Given the description of an element on the screen output the (x, y) to click on. 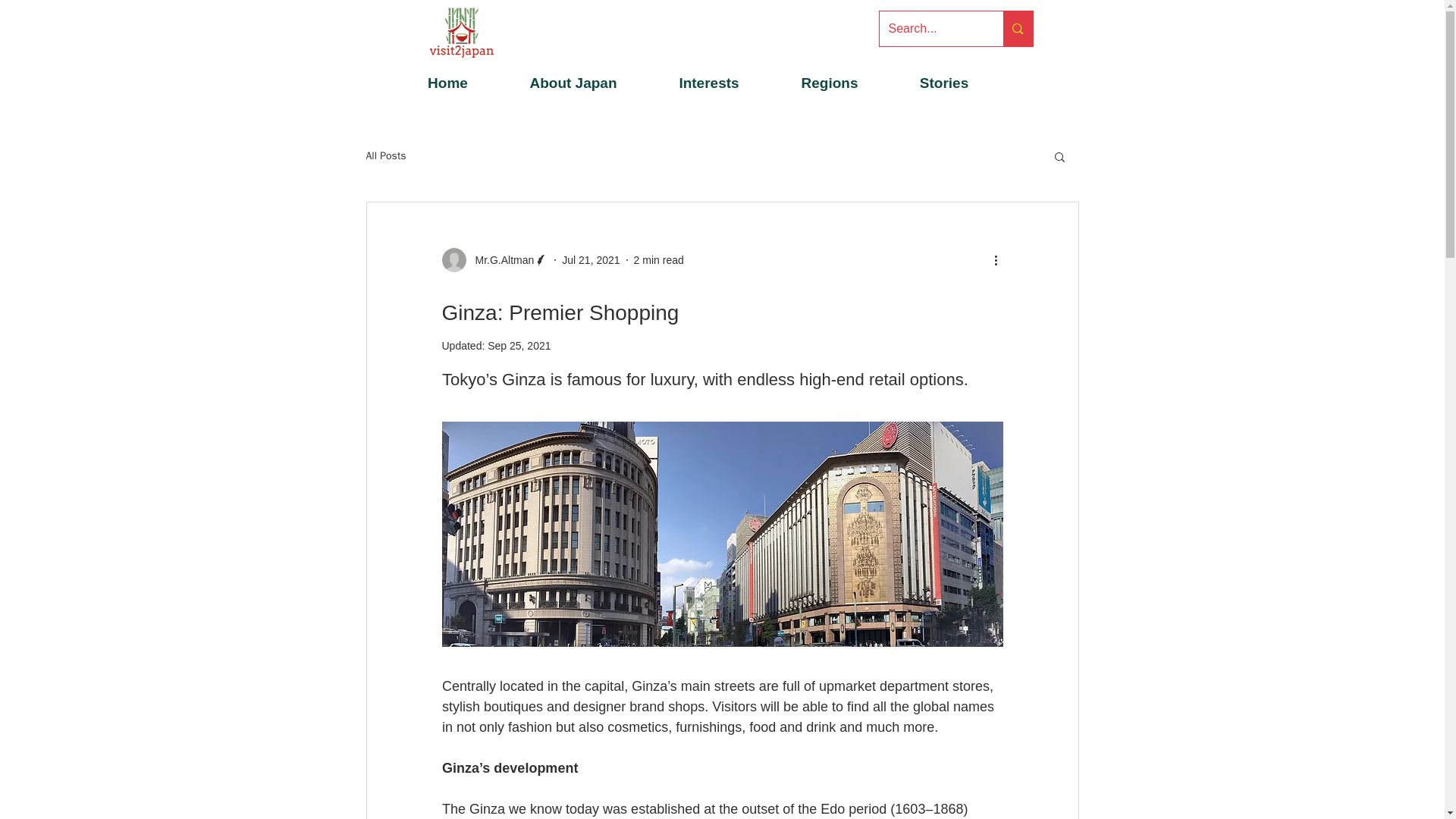
Mr.G.Altman (494, 259)
2 min read (658, 259)
Jul 21, 2021 (591, 259)
Mr.G.Altman  (499, 259)
Home (447, 83)
All Posts (385, 155)
Regions (829, 83)
Interests (709, 83)
Sep 25, 2021 (518, 345)
Stories (944, 83)
About Japan (572, 83)
